Given the description of an element on the screen output the (x, y) to click on. 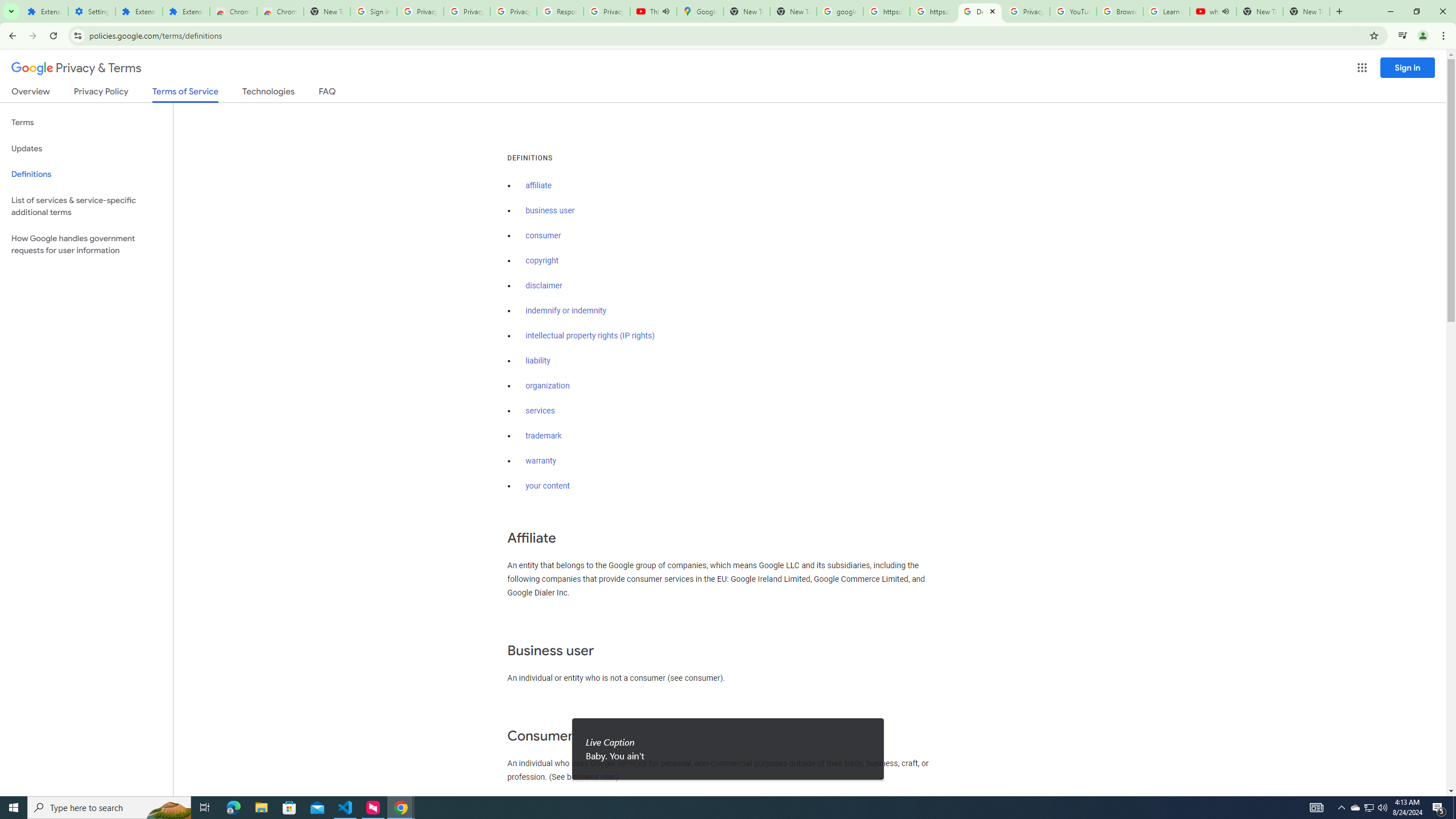
Privacy & Terms (76, 68)
Settings (91, 11)
Google Maps (699, 11)
affiliate (538, 185)
consumer (543, 235)
Control your music, videos, and more (1402, 35)
Extensions (186, 11)
New Tab (326, 11)
services (539, 411)
